Given the description of an element on the screen output the (x, y) to click on. 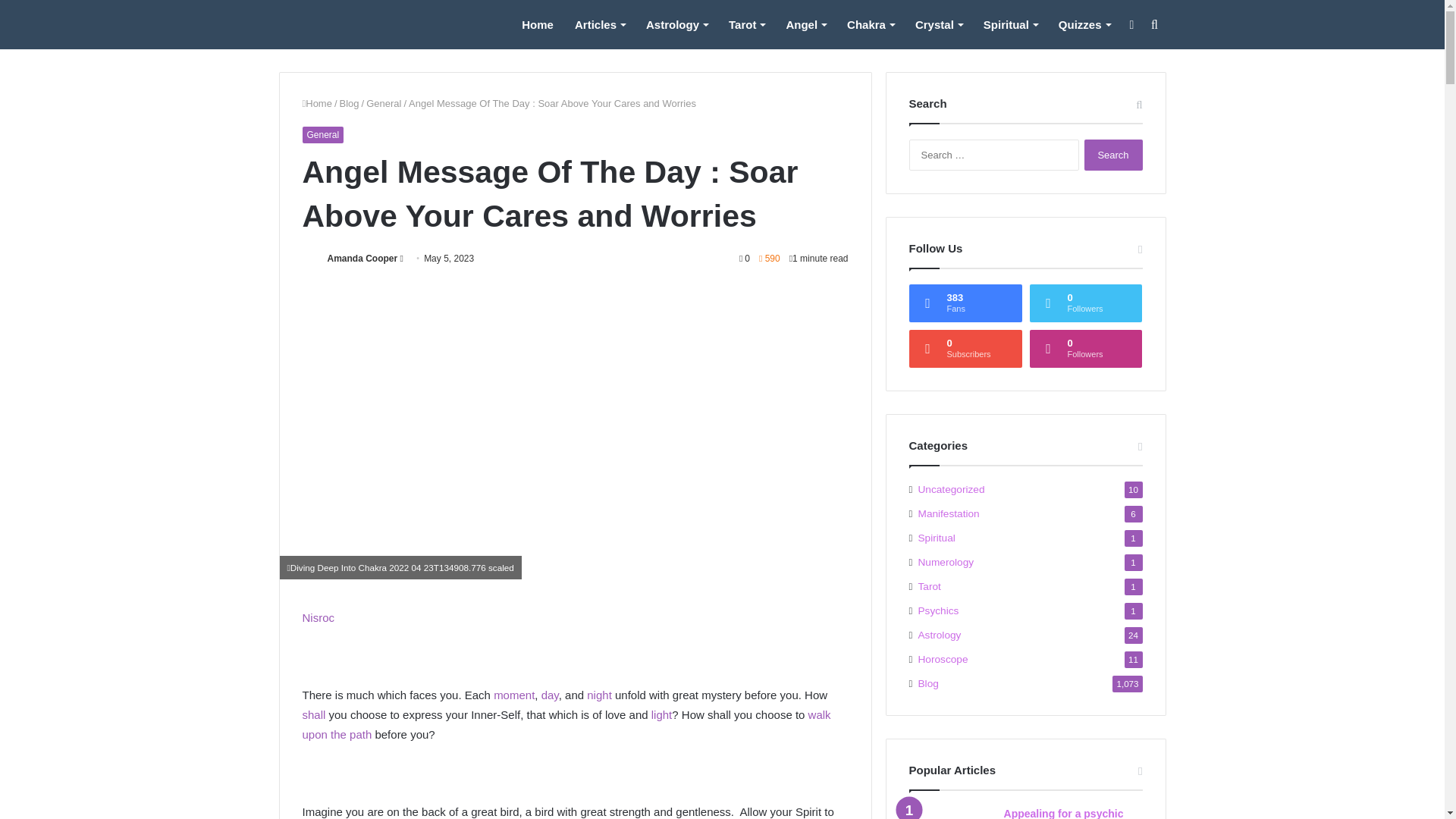
Spiritual (1010, 24)
Chakra (869, 24)
Crystal (938, 24)
Home (537, 24)
Search (1113, 154)
Quizzes (1084, 24)
Angel (804, 24)
Articles (599, 24)
Astrology (675, 24)
Amanda Cooper (362, 258)
Tarot (745, 24)
Search (1113, 154)
